Given the description of an element on the screen output the (x, y) to click on. 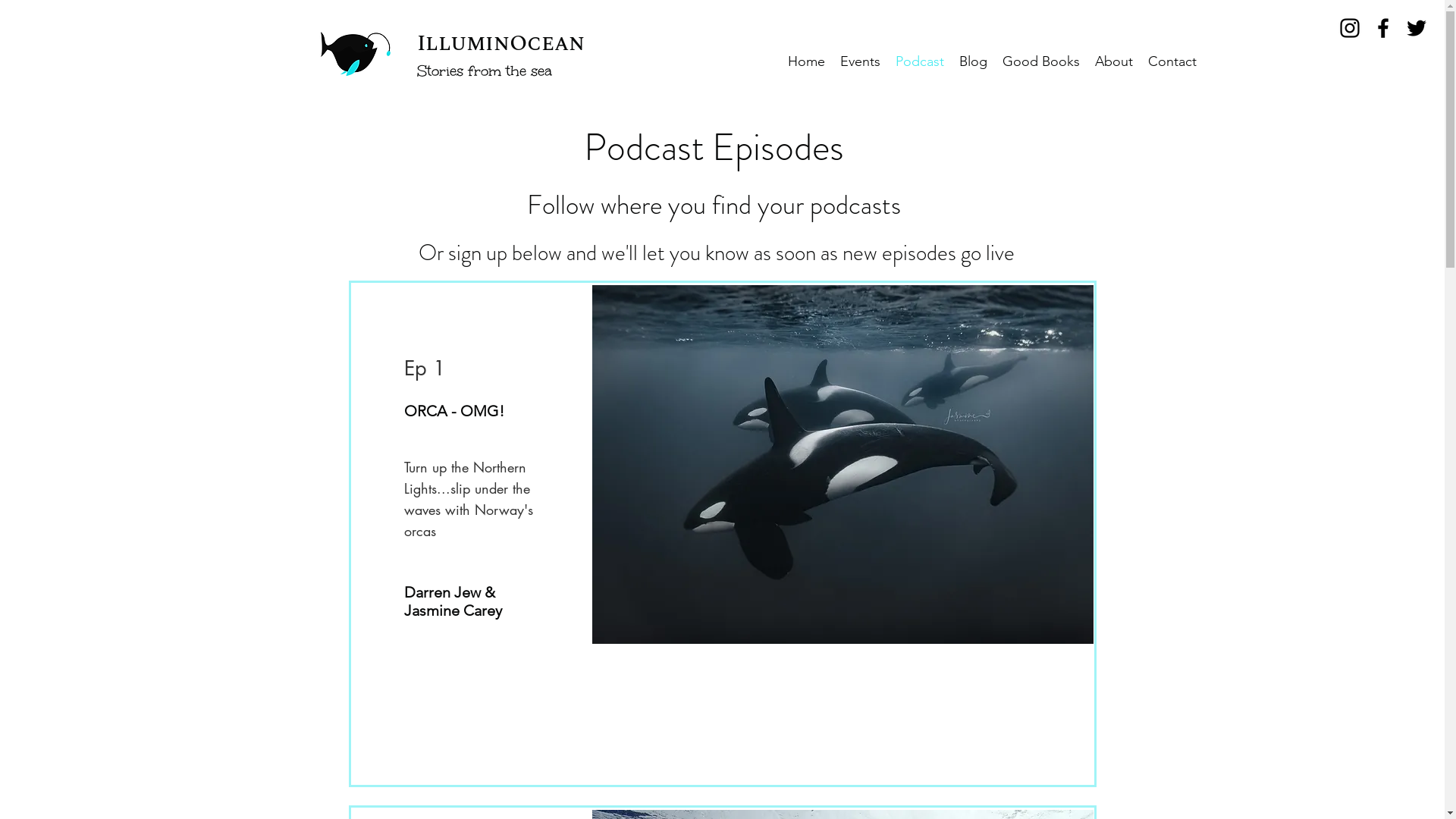
Podcast Element type: text (919, 61)
Contact Element type: text (1172, 61)
About Element type: text (1113, 61)
Home Element type: text (806, 61)
Events Element type: text (860, 61)
SoundCloud Element type: hover (840, 713)
Blog Element type: text (972, 61)
Good Books Element type: text (1040, 61)
